Given the description of an element on the screen output the (x, y) to click on. 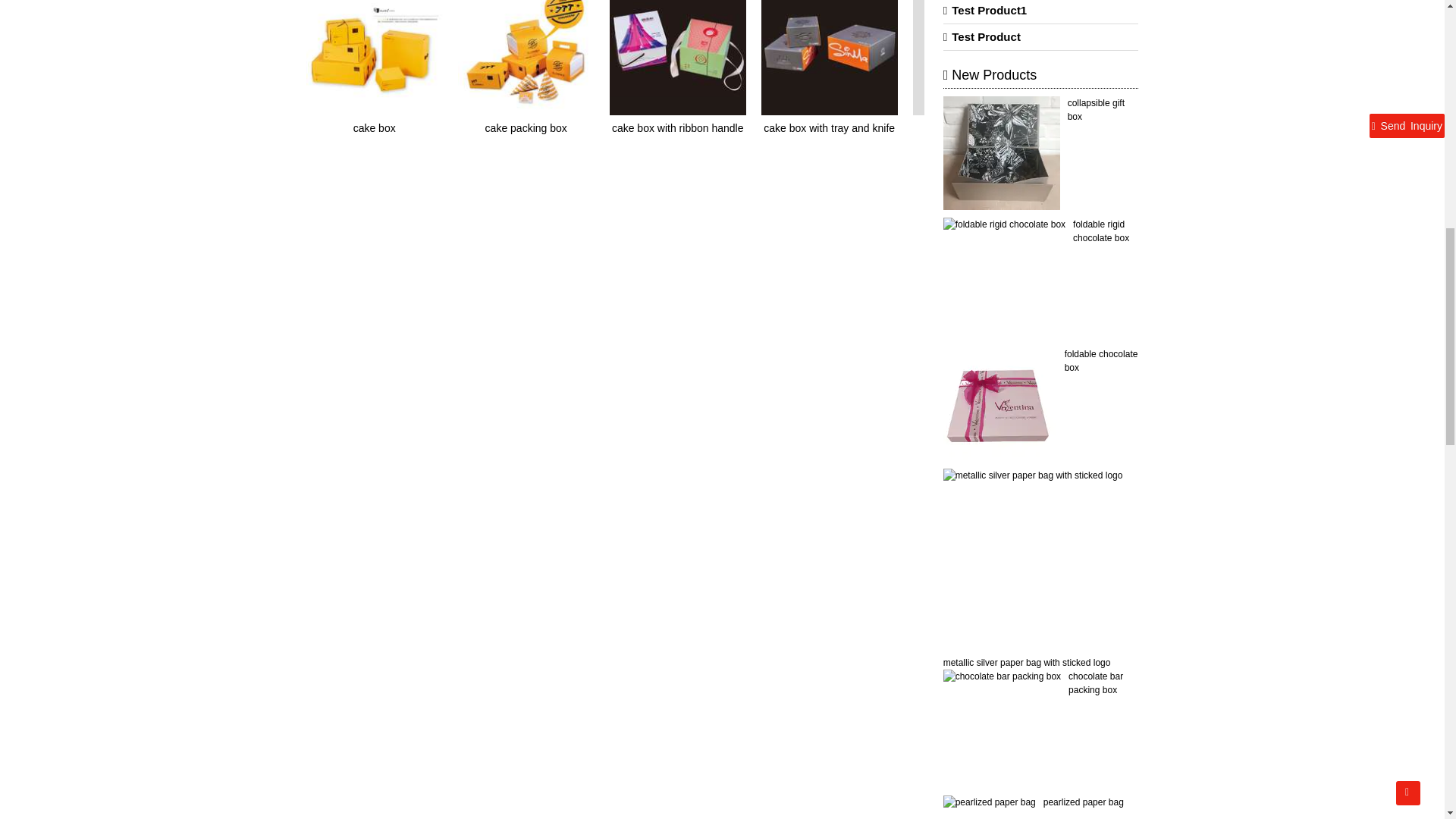
chocolate bar packing box  (1095, 682)
pearlized paper bag  (1083, 801)
foldable rigid chocolate box (1101, 231)
foldable chocolate box (1101, 360)
metallic silver paper bag with sticked logo  (1026, 662)
collapsible gift box (1095, 109)
